Given the description of an element on the screen output the (x, y) to click on. 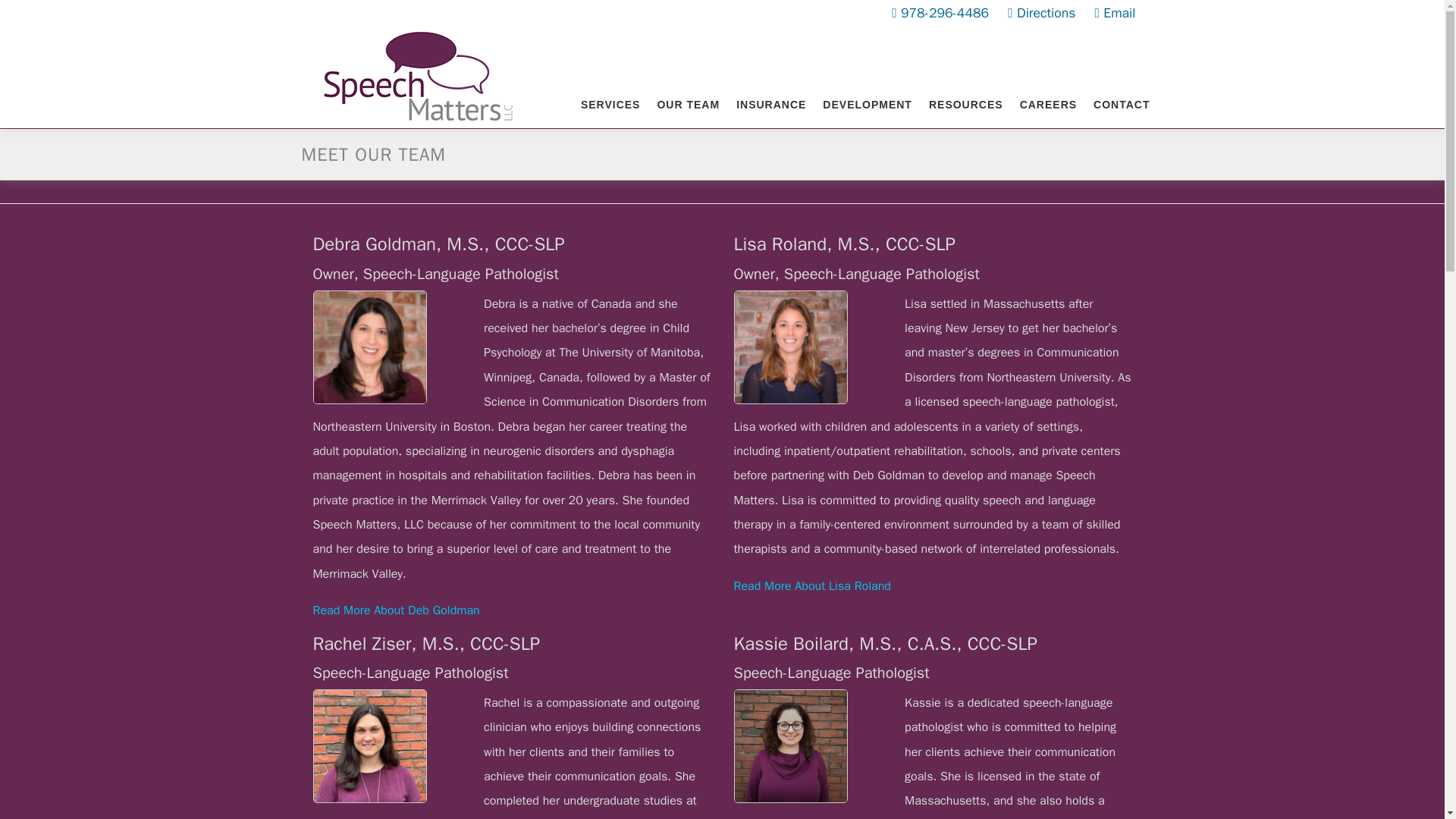
CAREERS (1048, 104)
978-296-4486 (939, 12)
Read More About Lisa Roland (812, 585)
OUR TEAM (687, 104)
Directions (1041, 12)
Speech and Language Developmental Milestones (866, 104)
Email (1114, 12)
RESOURCES (965, 104)
SERVICES (610, 104)
INSURANCE (770, 104)
DEVELOPMENT (866, 104)
CONTACT (1115, 104)
Read More About Deb Goldman (396, 610)
